Given the description of an element on the screen output the (x, y) to click on. 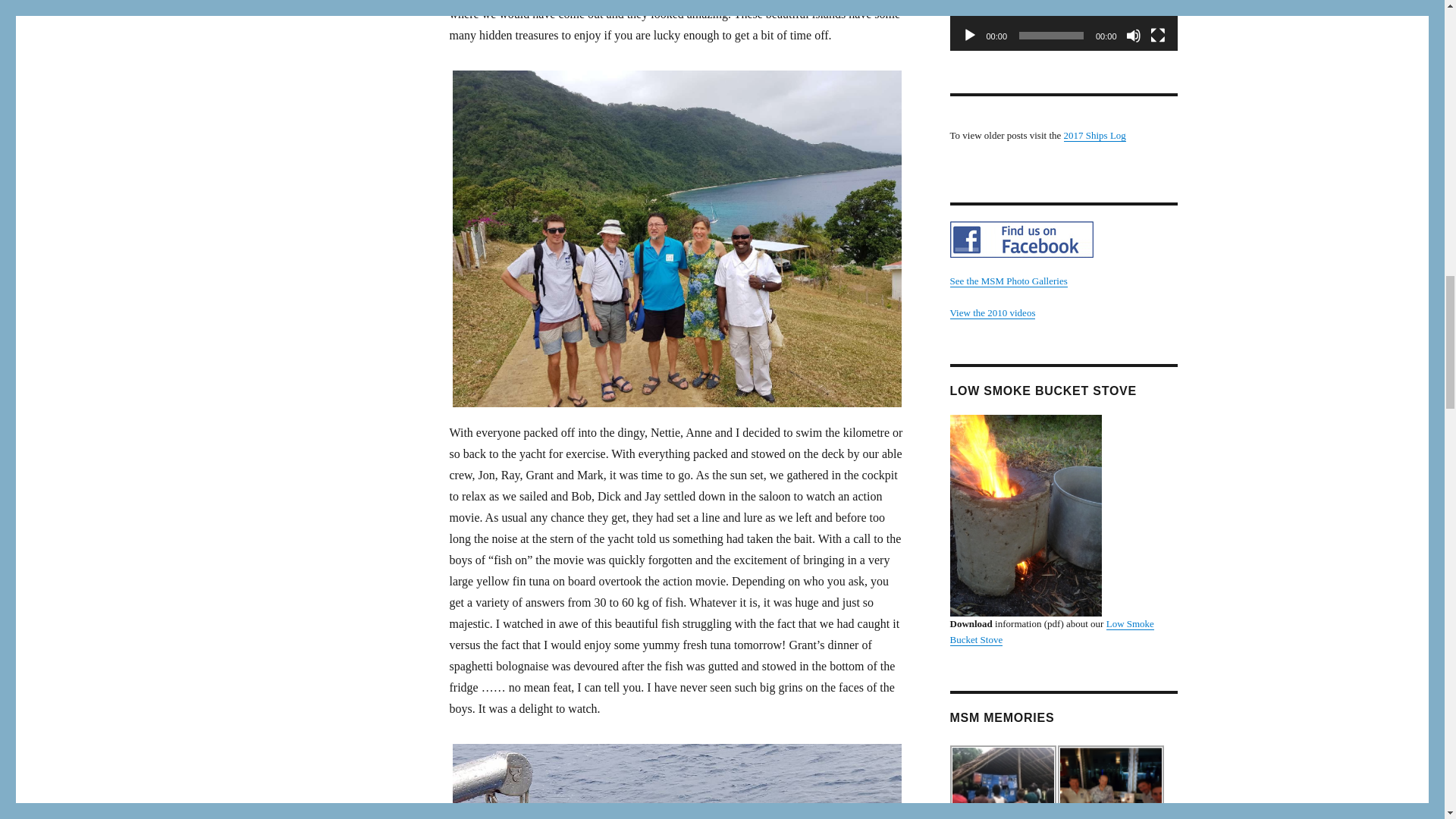
Low Smoke Bucket Stove (1024, 515)
Fullscreen (1157, 35)
Ureparapara3 (1002, 782)
Play (968, 35)
Mute (1132, 35)
